Given the description of an element on the screen output the (x, y) to click on. 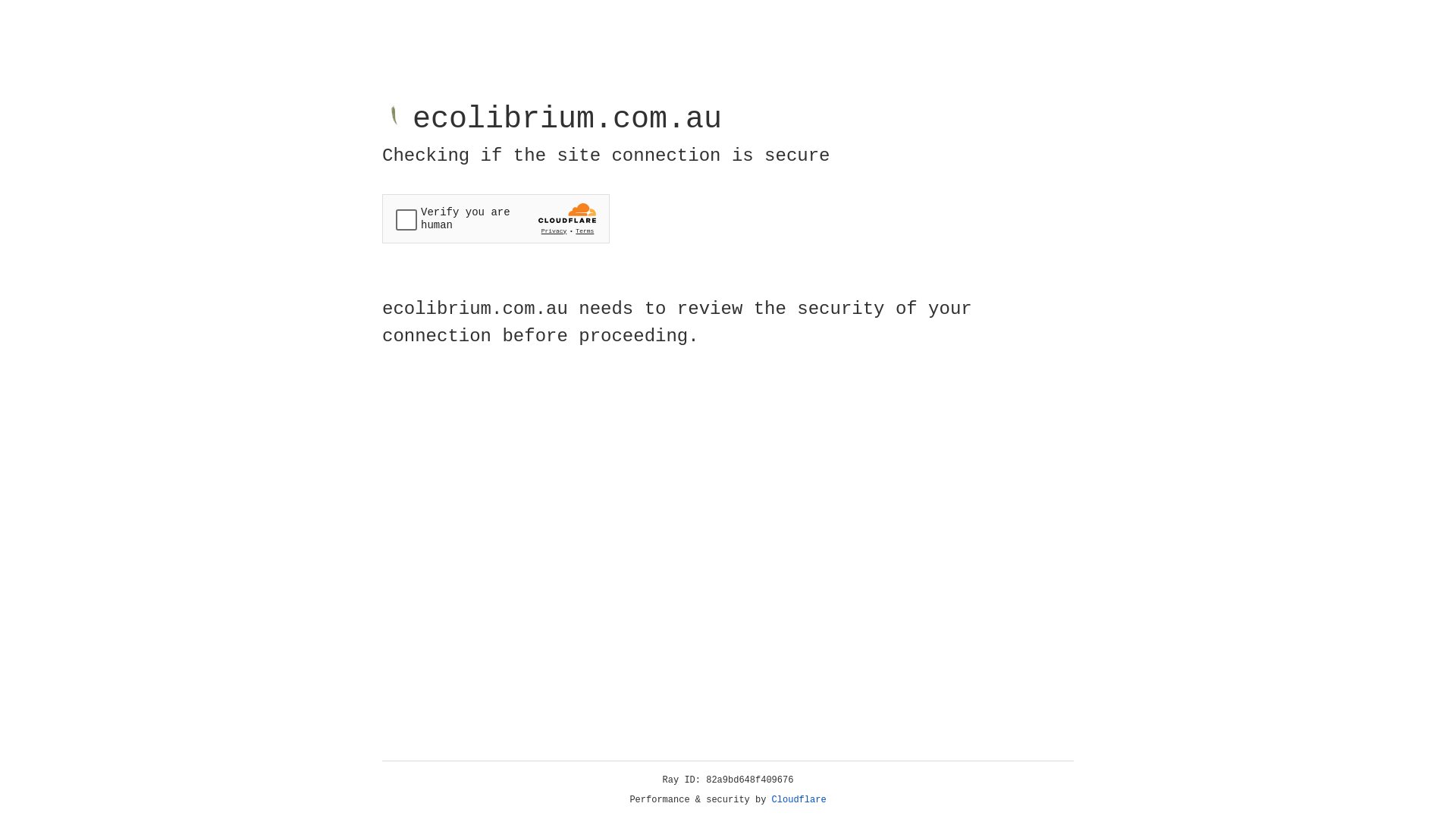
Widget containing a Cloudflare security challenge Element type: hover (495, 218)
Cloudflare Element type: text (798, 799)
